Given the description of an element on the screen output the (x, y) to click on. 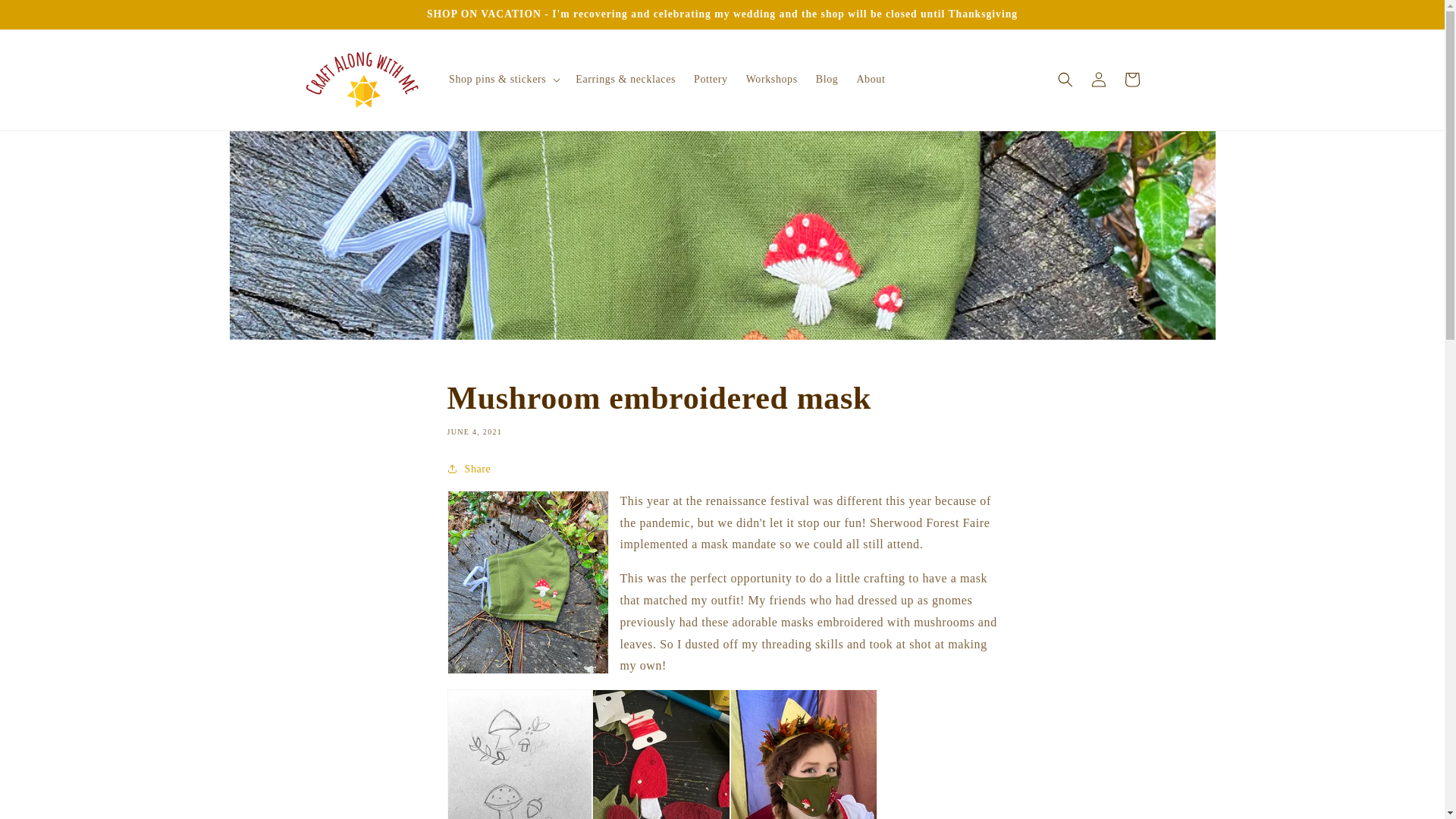
Workshops (771, 79)
Log in (1098, 79)
About (870, 79)
Blog (826, 79)
Cart (1131, 79)
Skip to content (45, 17)
Pottery (710, 79)
